Given the description of an element on the screen output the (x, y) to click on. 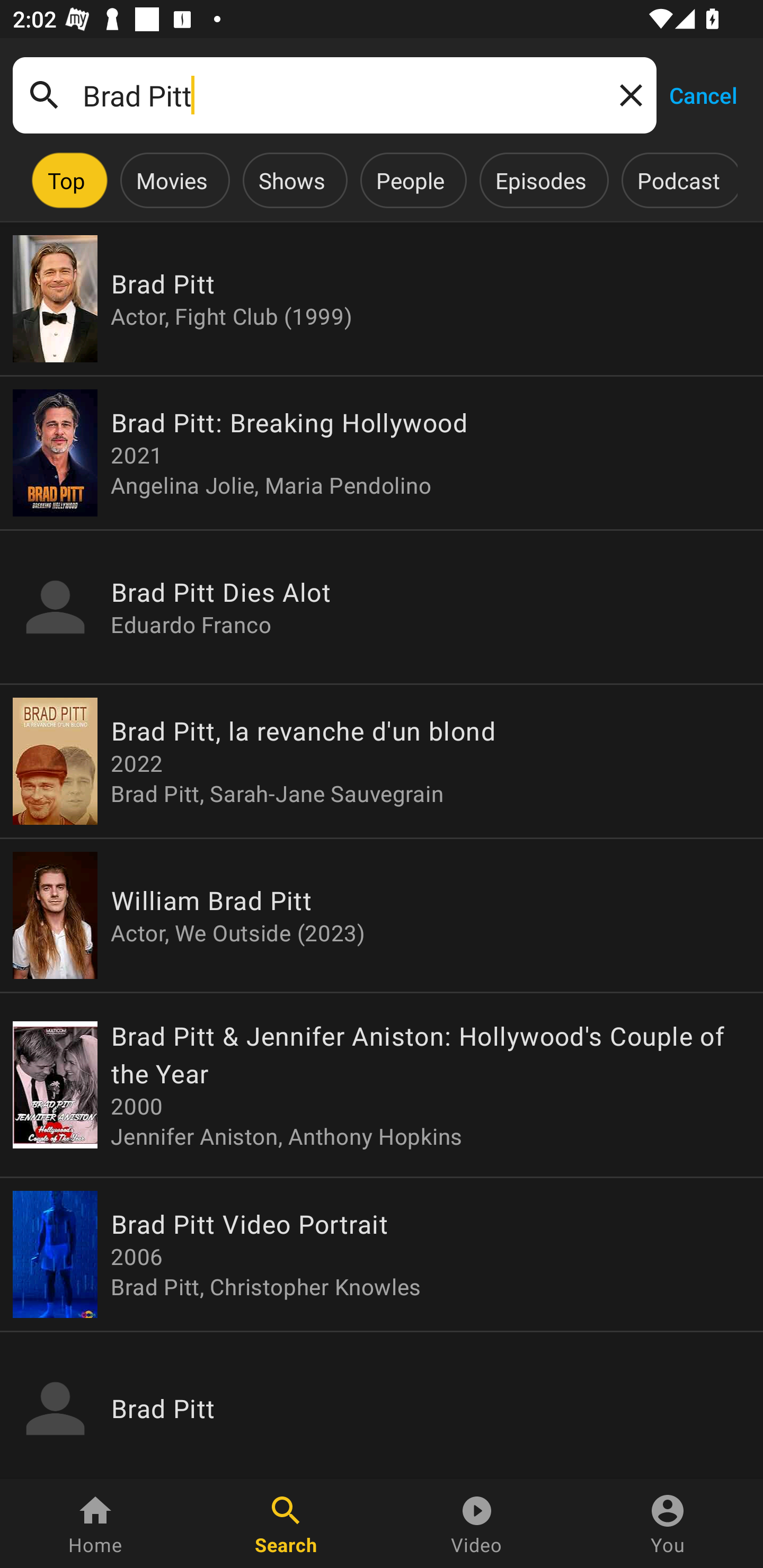
Clear query (627, 94)
Cancel (703, 94)
Brad Pitt (334, 95)
Top (66, 180)
Movies (171, 180)
Shows (291, 180)
People (410, 180)
Episodes (540, 180)
Podcast (678, 180)
Brad Pitt Actor, Fight Club (1999) (381, 298)
Brad Pitt Dies Alot Eduardo Franco (381, 607)
William Brad Pitt Actor, We Outside (2023) (381, 914)
Brad Pitt (381, 1405)
Home (95, 1523)
Video (476, 1523)
You (667, 1523)
